Given the description of an element on the screen output the (x, y) to click on. 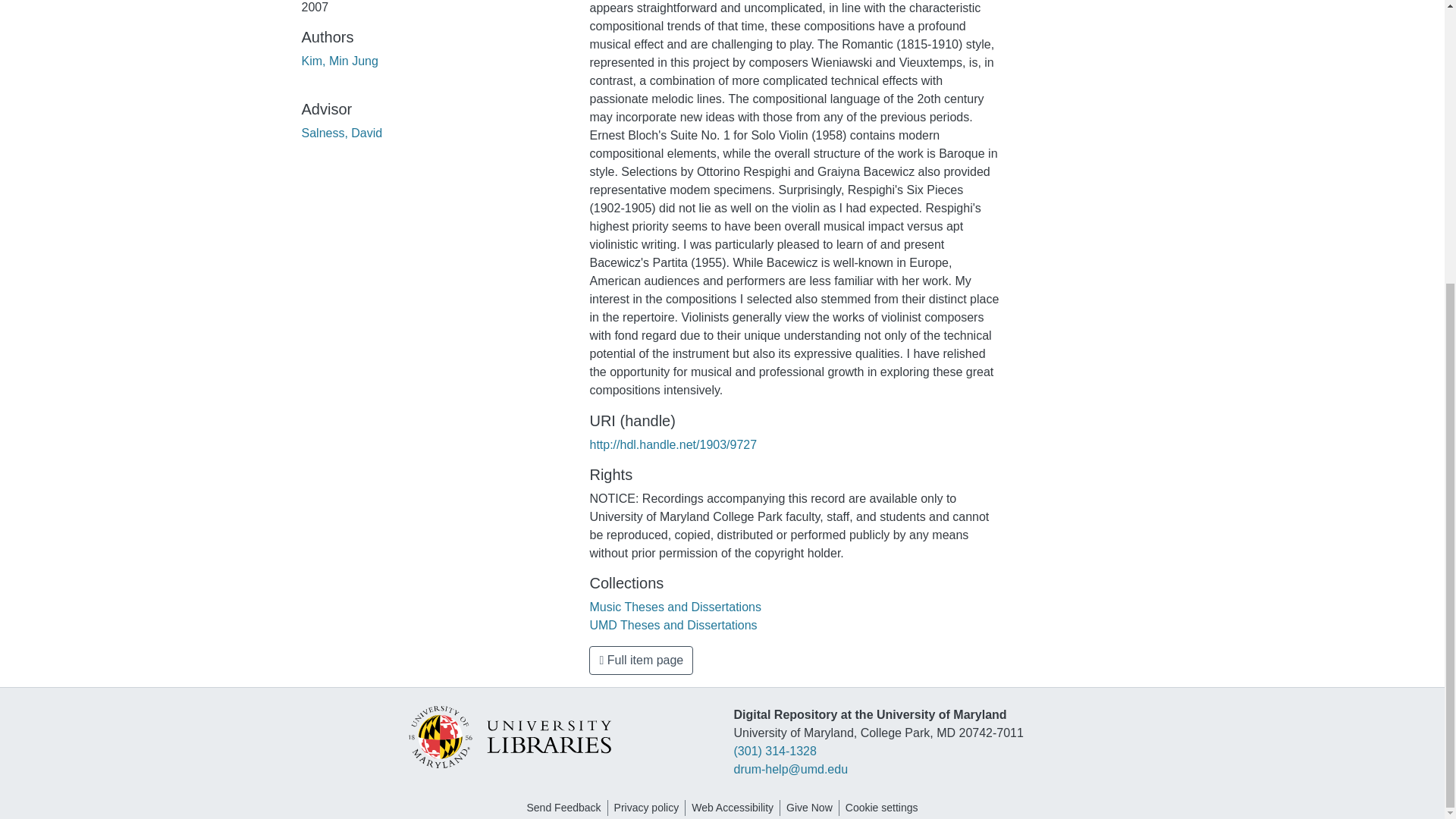
Kim, Min Jung (339, 60)
Web Accessibility (731, 807)
Salness, David (341, 132)
Give Now (809, 807)
Send Feedback (563, 807)
Full item page (641, 660)
Privacy policy (646, 807)
Music Theses and Dissertations (674, 606)
Cookie settings (882, 807)
UMD Theses and Dissertations (673, 625)
